Given the description of an element on the screen output the (x, y) to click on. 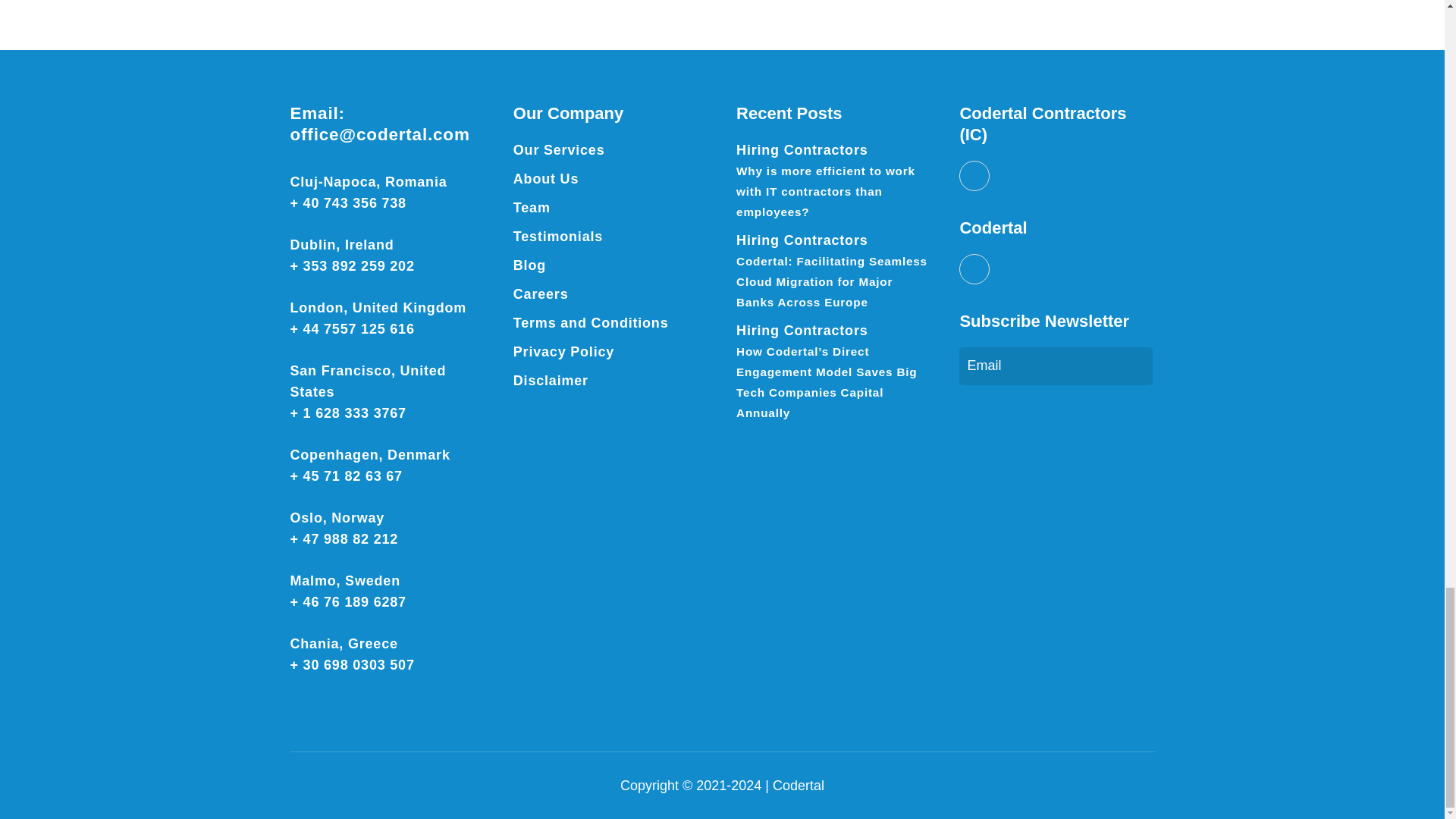
linkedin (974, 175)
Management Team (531, 207)
linkedin (974, 268)
Careers (541, 294)
About Us (545, 178)
Testimonials (557, 236)
Our Services (559, 150)
